Given the description of an element on the screen output the (x, y) to click on. 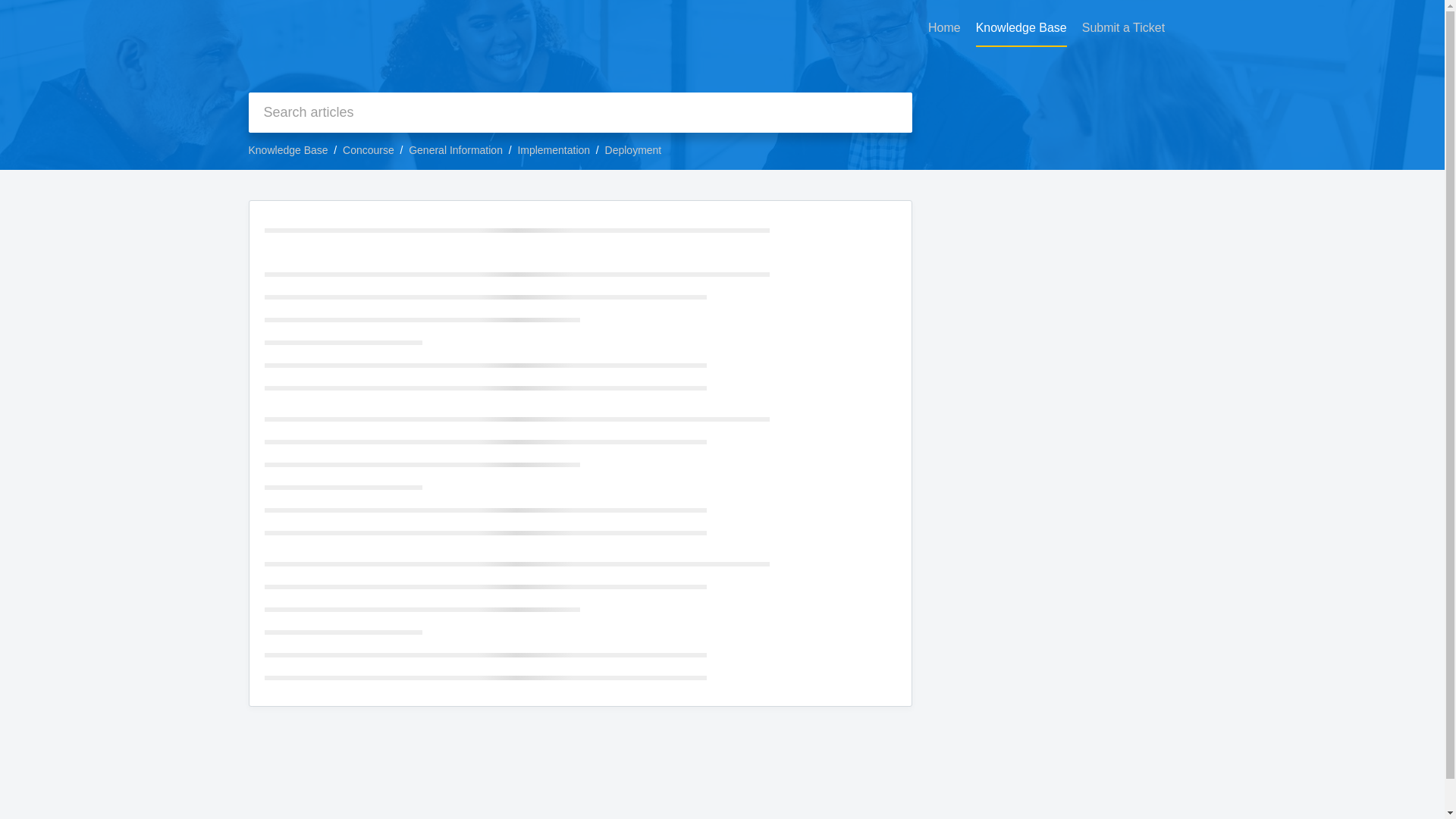
Submit A Ticket (1122, 27)
General Information (455, 150)
Home (944, 27)
Knowledge Base (1021, 27)
Submit a Ticket (1122, 27)
Home (944, 27)
Implementation (552, 150)
Knowledge Base (288, 150)
Knowledge Base (1021, 27)
Concourse (368, 150)
